Given the description of an element on the screen output the (x, y) to click on. 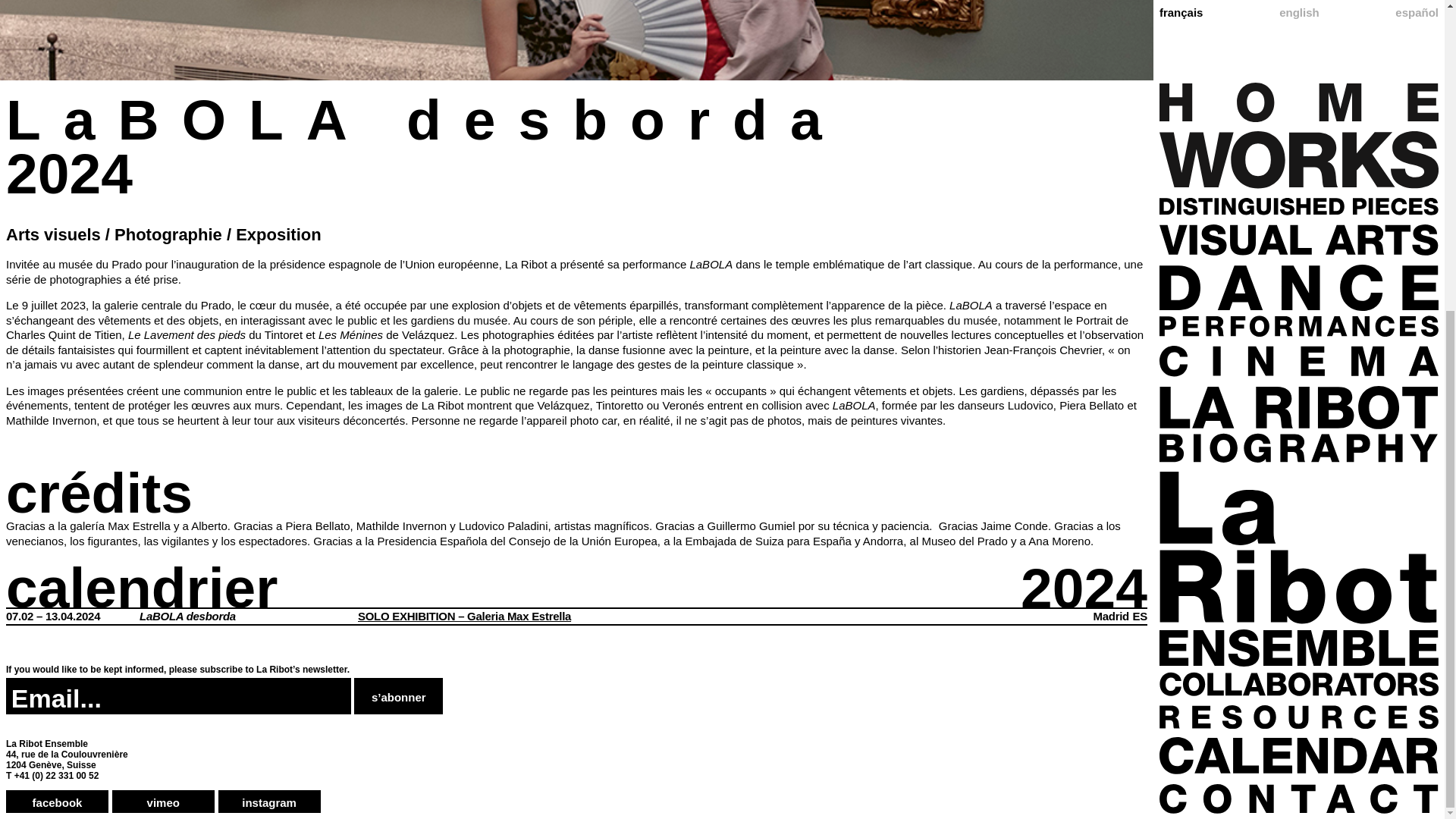
vimeo (163, 801)
facebook (56, 801)
instagram (269, 801)
